Given the description of an element on the screen output the (x, y) to click on. 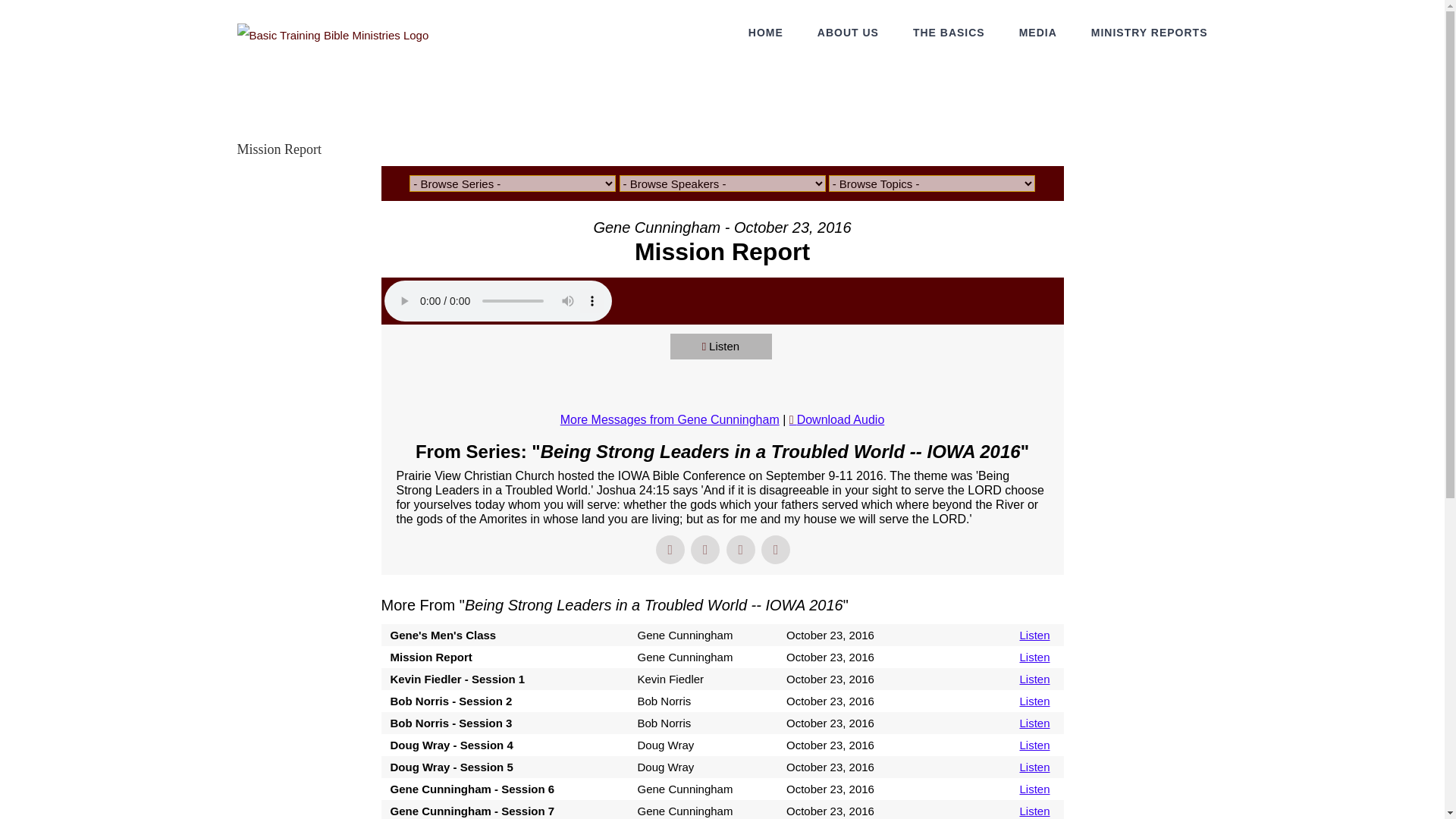
MINISTRY REPORTS (1149, 31)
ABOUT US (847, 31)
THE BASICS (948, 31)
